Given the description of an element on the screen output the (x, y) to click on. 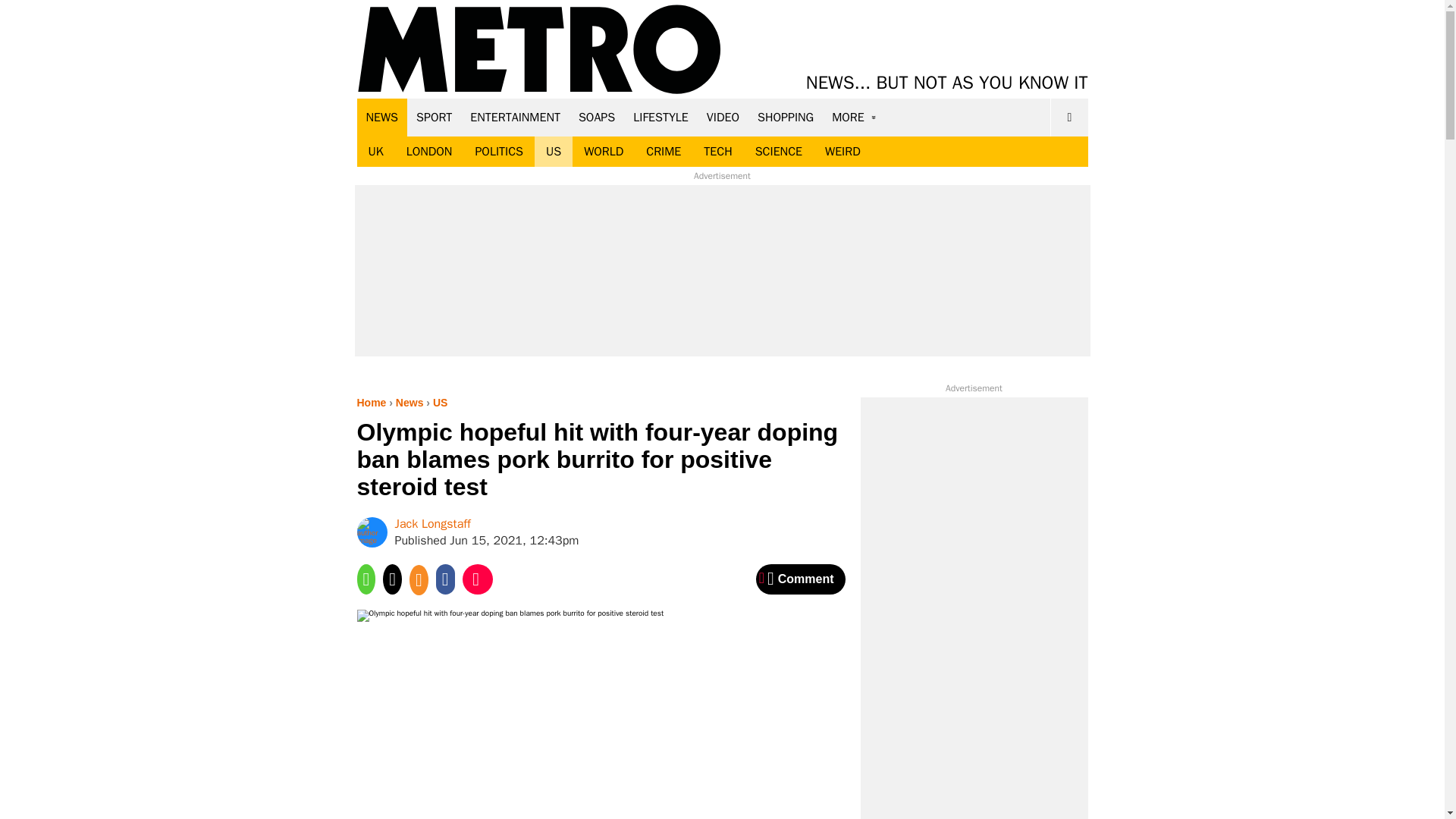
Metro (539, 50)
CRIME (663, 151)
ENTERTAINMENT (515, 117)
LONDON (429, 151)
LIFESTYLE (660, 117)
UK (375, 151)
TECH (717, 151)
SCIENCE (778, 151)
WORLD (603, 151)
SPORT (434, 117)
